Given the description of an element on the screen output the (x, y) to click on. 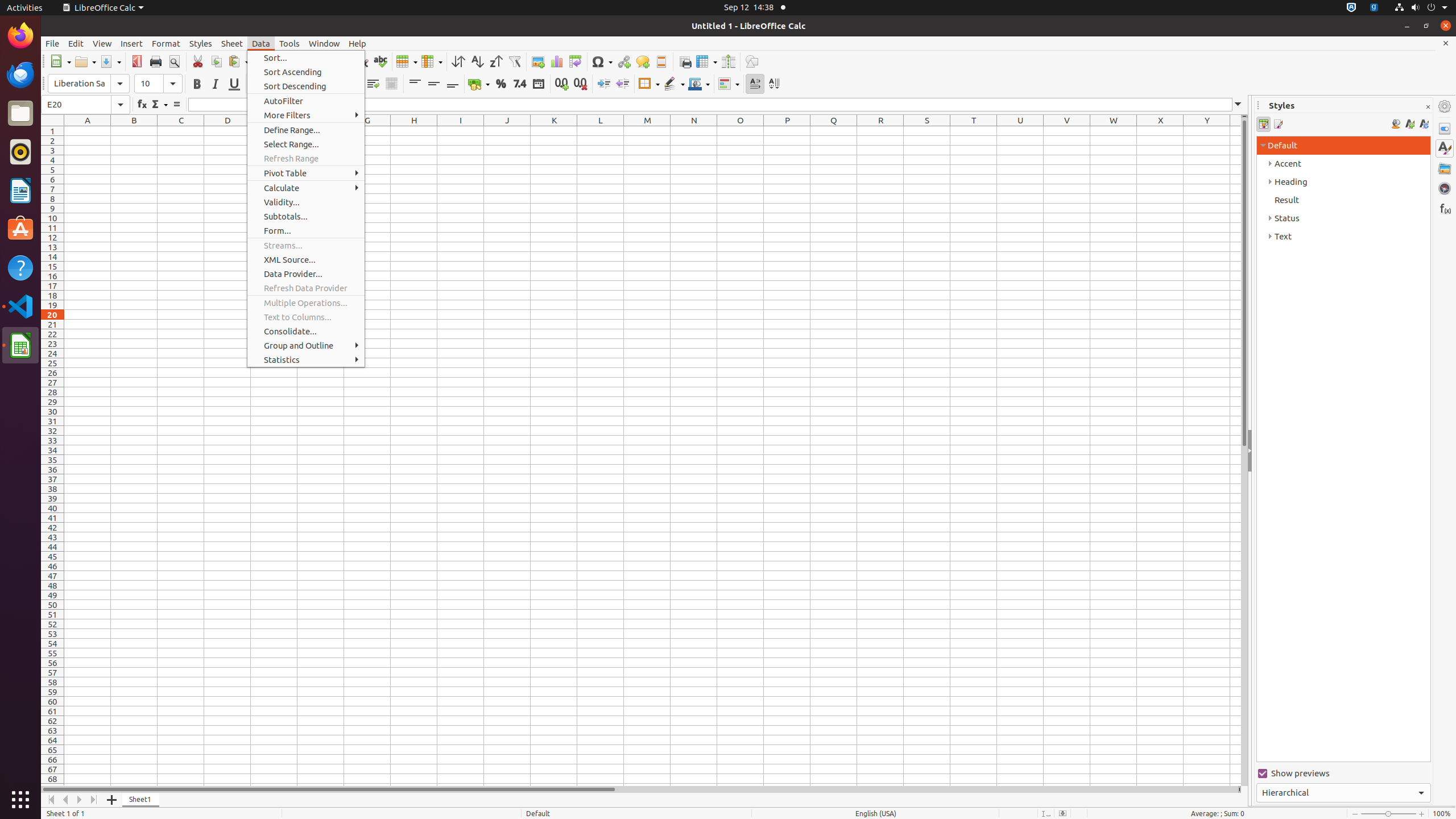
Statistics Element type: menu (305, 359)
Save Element type: push-button (109, 61)
PDF Element type: push-button (136, 61)
Align Top Element type: push-button (414, 83)
Font Size Element type: combo-box (158, 83)
